Given the description of an element on the screen output the (x, y) to click on. 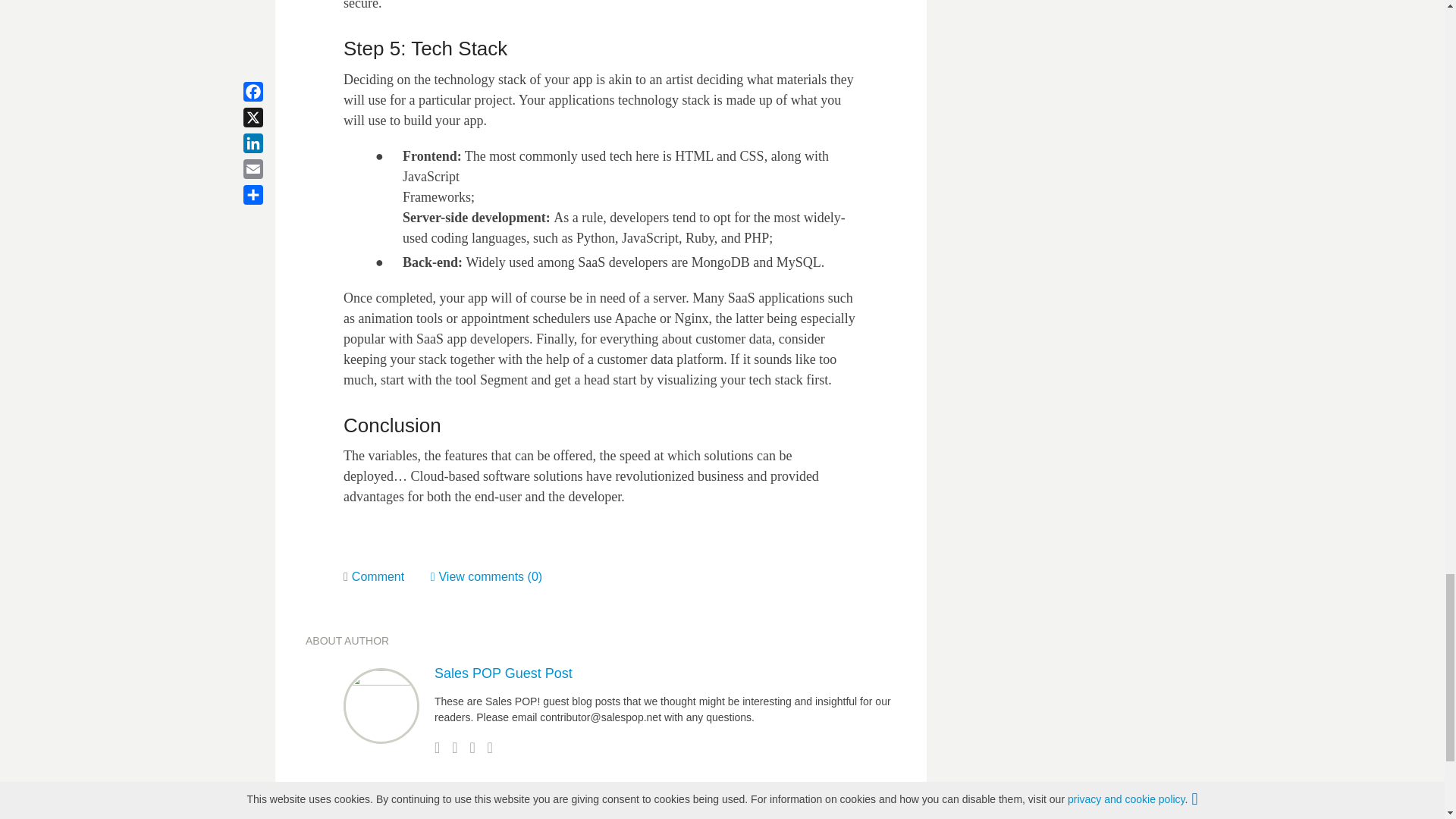
Sales POP Guest Post (502, 672)
Comment (386, 576)
